Given the description of an element on the screen output the (x, y) to click on. 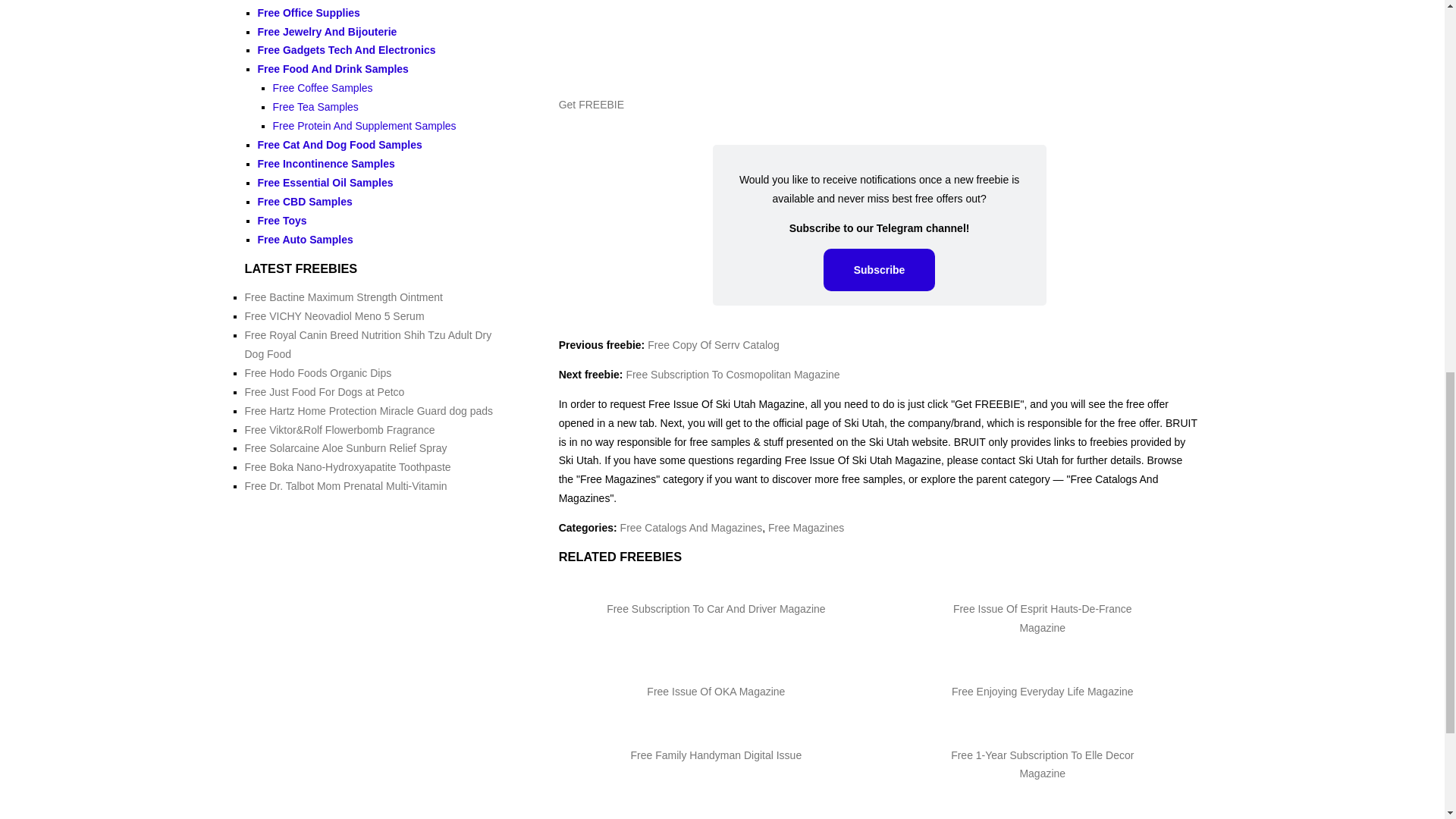
Free Subscription To Cosmopolitan Magazine (733, 374)
Subscribe (880, 269)
Free Catalogs And Magazines (691, 527)
Get FREEBIE (591, 104)
Free Magazines (806, 527)
Free Issue Of OKA Magazine (715, 691)
Free Copy Of Serrv Catalog (712, 345)
Free Issue Of Esprit Hauts-De-France Magazine (1042, 617)
Free Family Handyman Digital Issue (716, 755)
Advertisement (879, 42)
Free Enjoying Everyday Life Magazine (1043, 691)
Free 1-Year Subscription To Elle Decor Magazine (1042, 764)
Free Subscription To Car And Driver Magazine (716, 608)
